Given the description of an element on the screen output the (x, y) to click on. 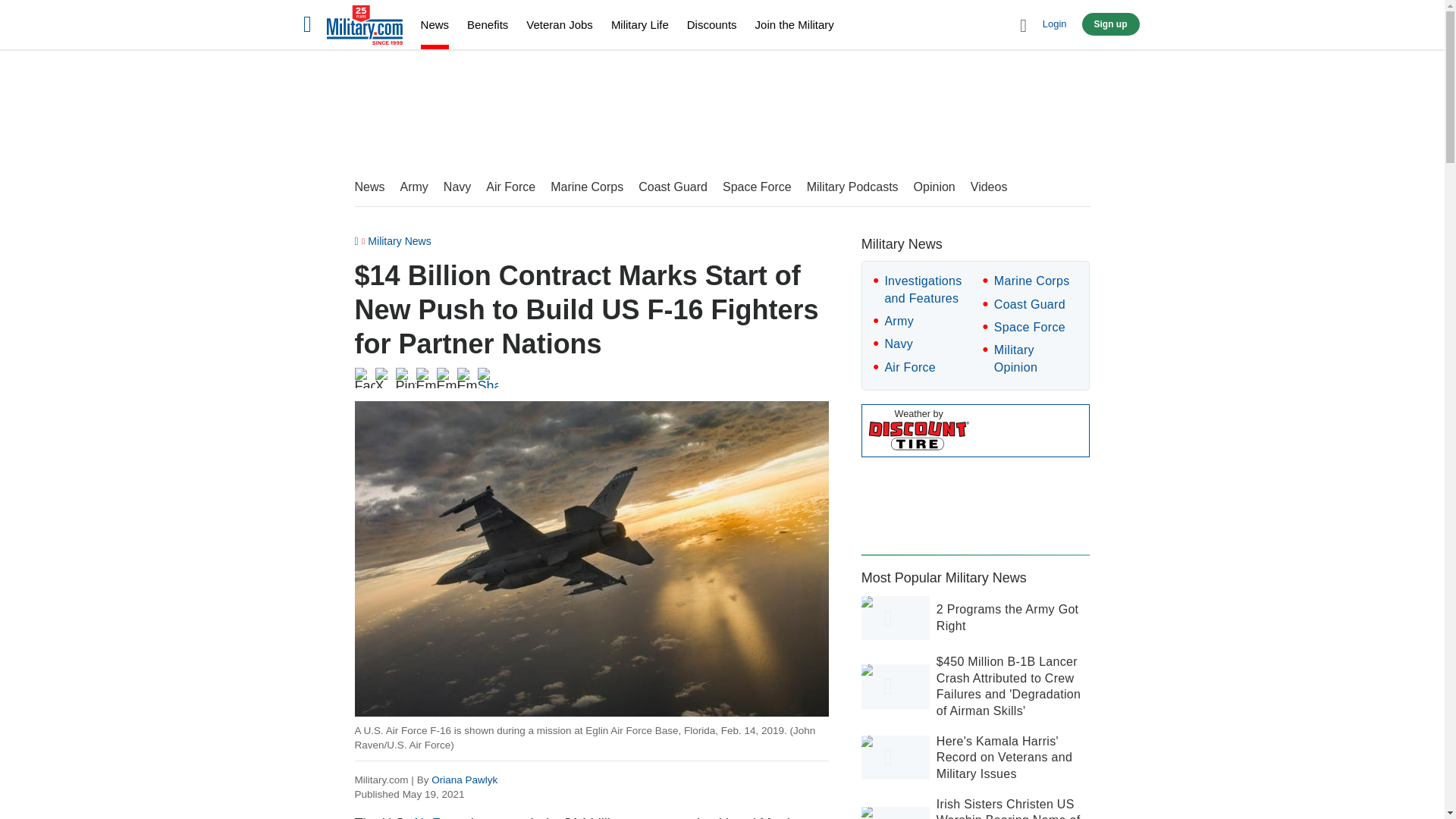
Veteran Jobs (558, 24)
Home (364, 27)
Benefits (487, 24)
Military Life (639, 24)
